Given the description of an element on the screen output the (x, y) to click on. 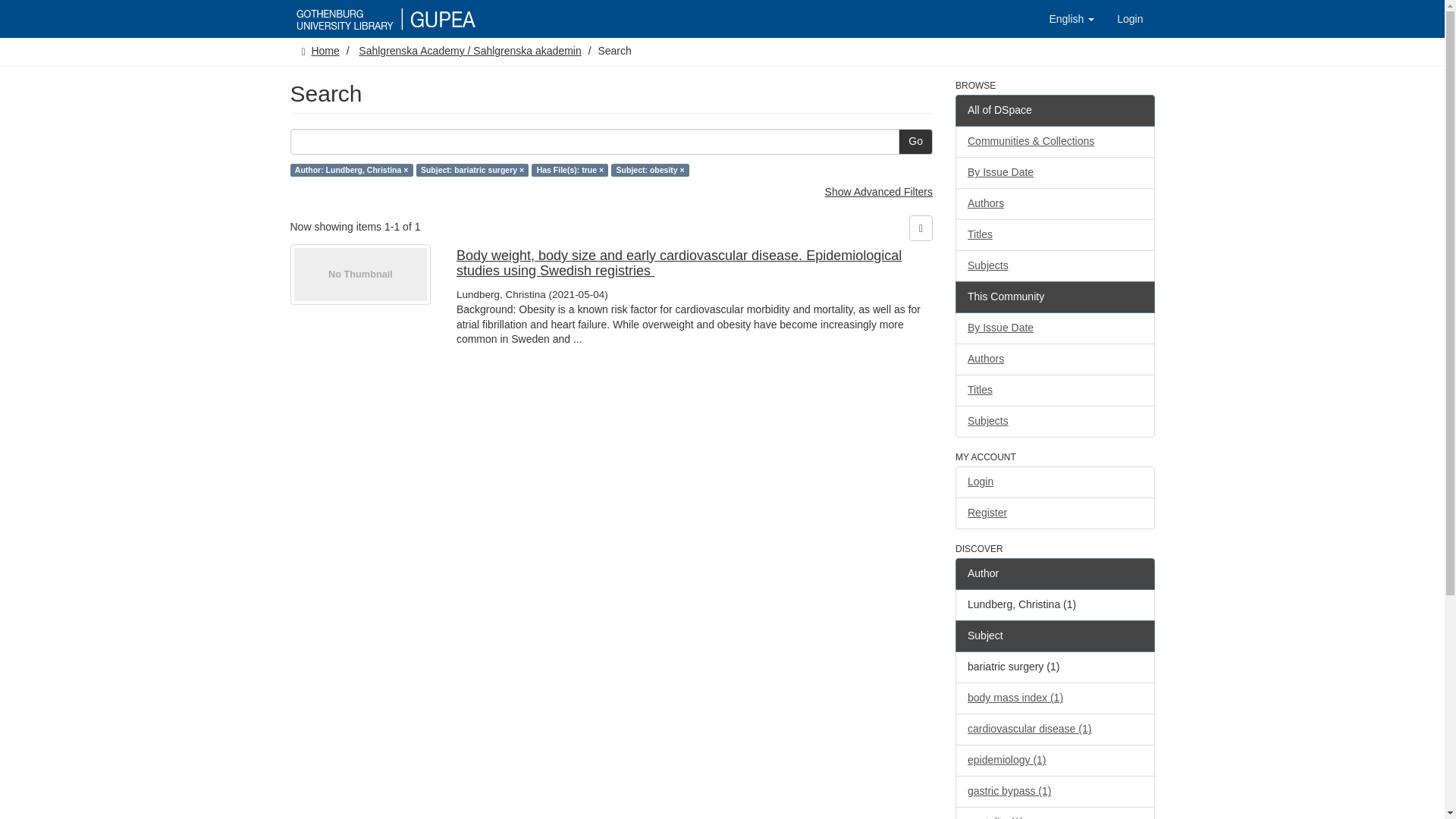
Login (1129, 18)
English  (1070, 18)
Show Advanced Filters (879, 191)
Go (915, 141)
Home (325, 50)
